Given the description of an element on the screen output the (x, y) to click on. 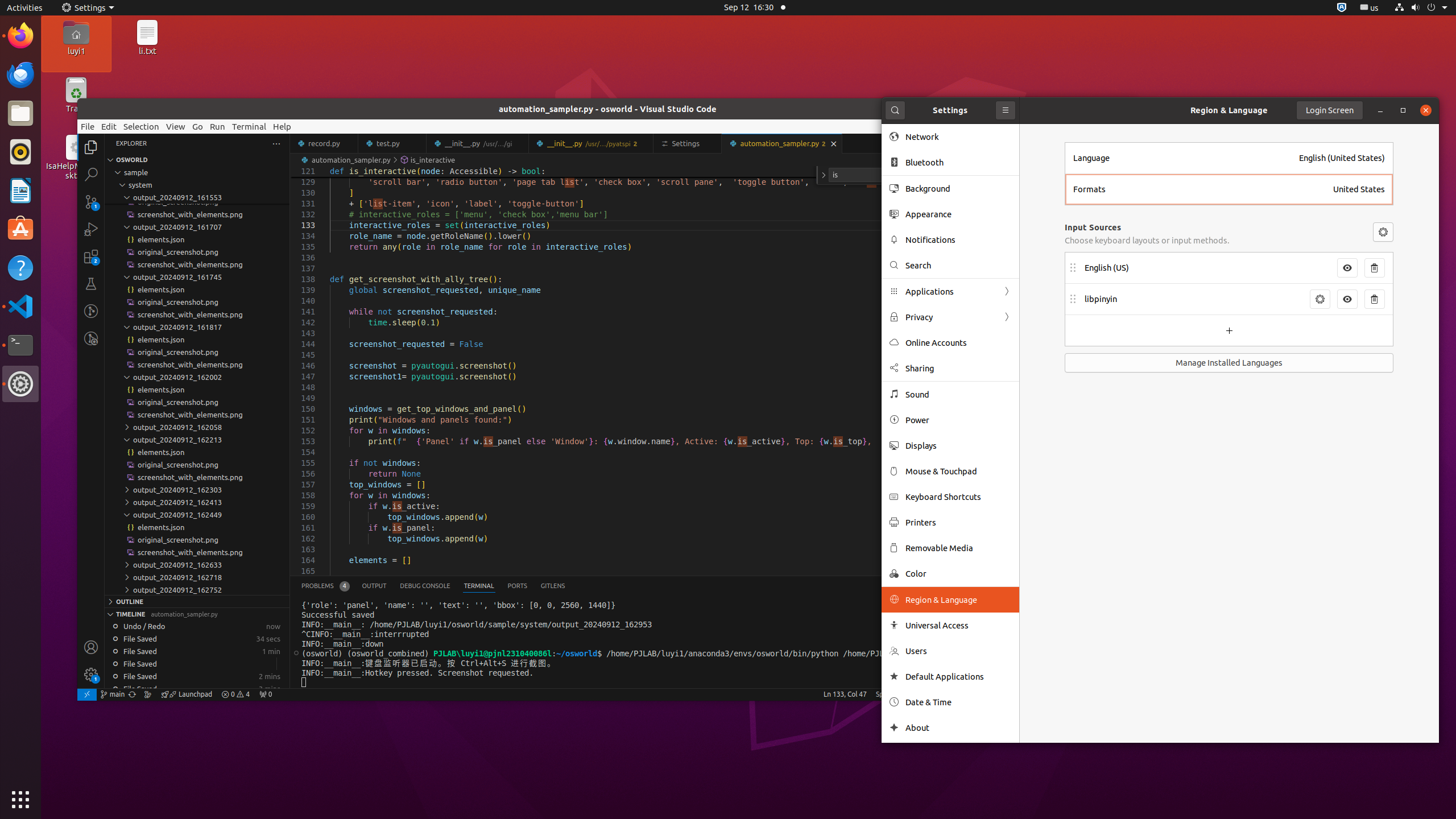
Users Element type: label (958, 650)
Online Accounts Element type: label (958, 342)
Terminal Element type: push-button (20, 344)
Removable Media Element type: label (958, 547)
